Given the description of an element on the screen output the (x, y) to click on. 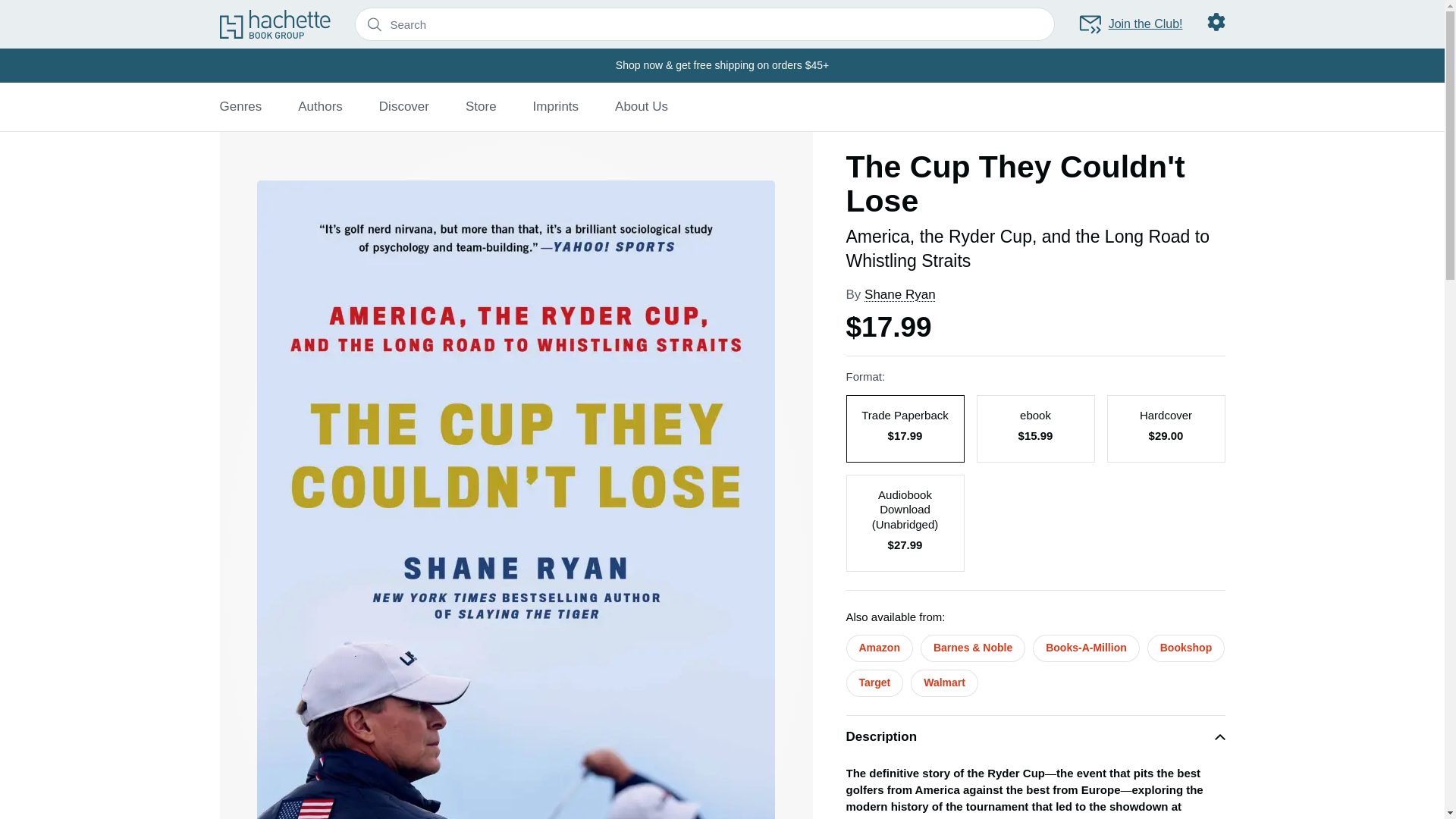
Go to Hachette Book Group home (274, 23)
Join the Club! (1130, 24)
Genres (240, 106)
